Given the description of an element on the screen output the (x, y) to click on. 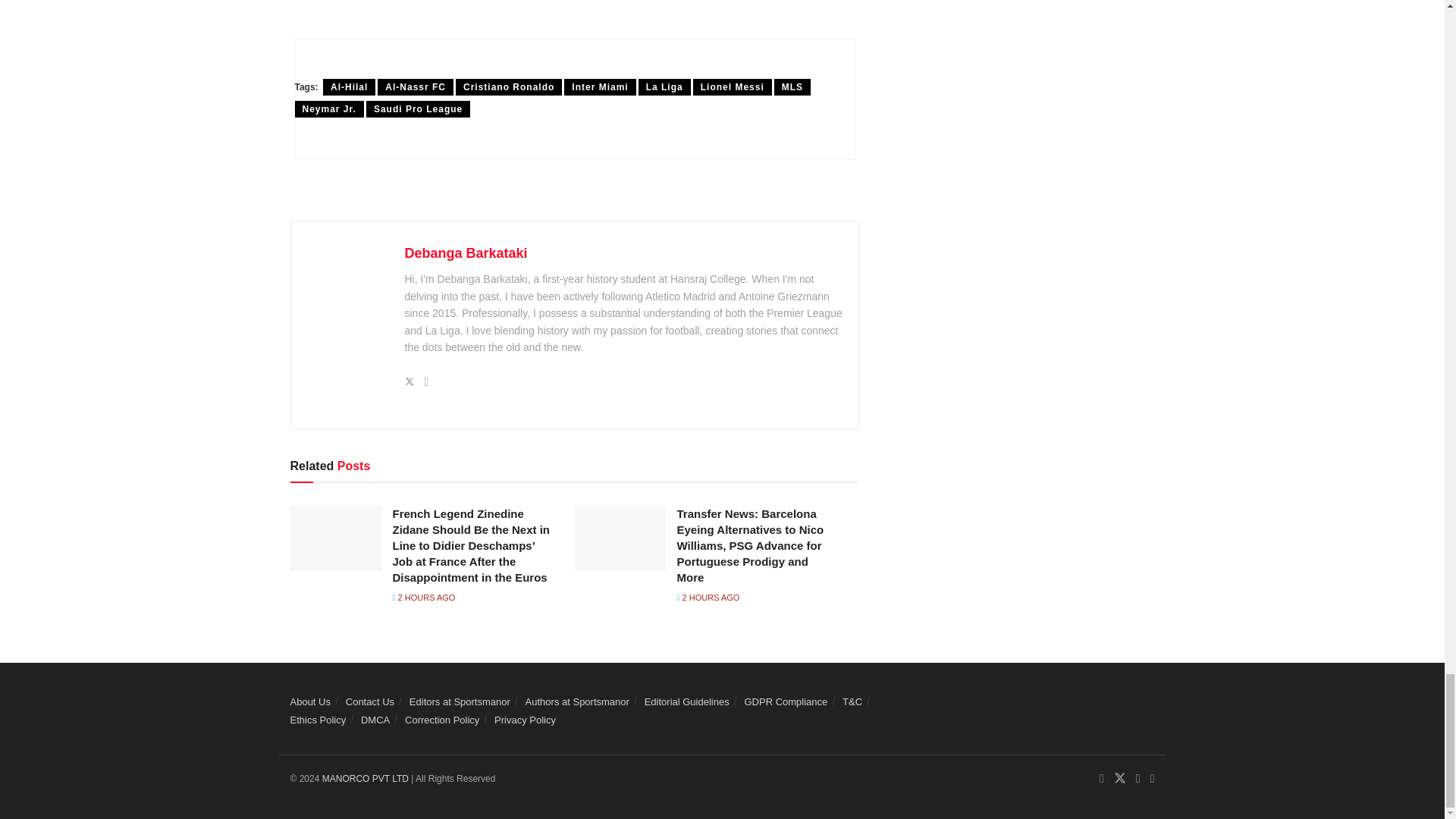
Sportsmanor (366, 778)
